Given the description of an element on the screen output the (x, y) to click on. 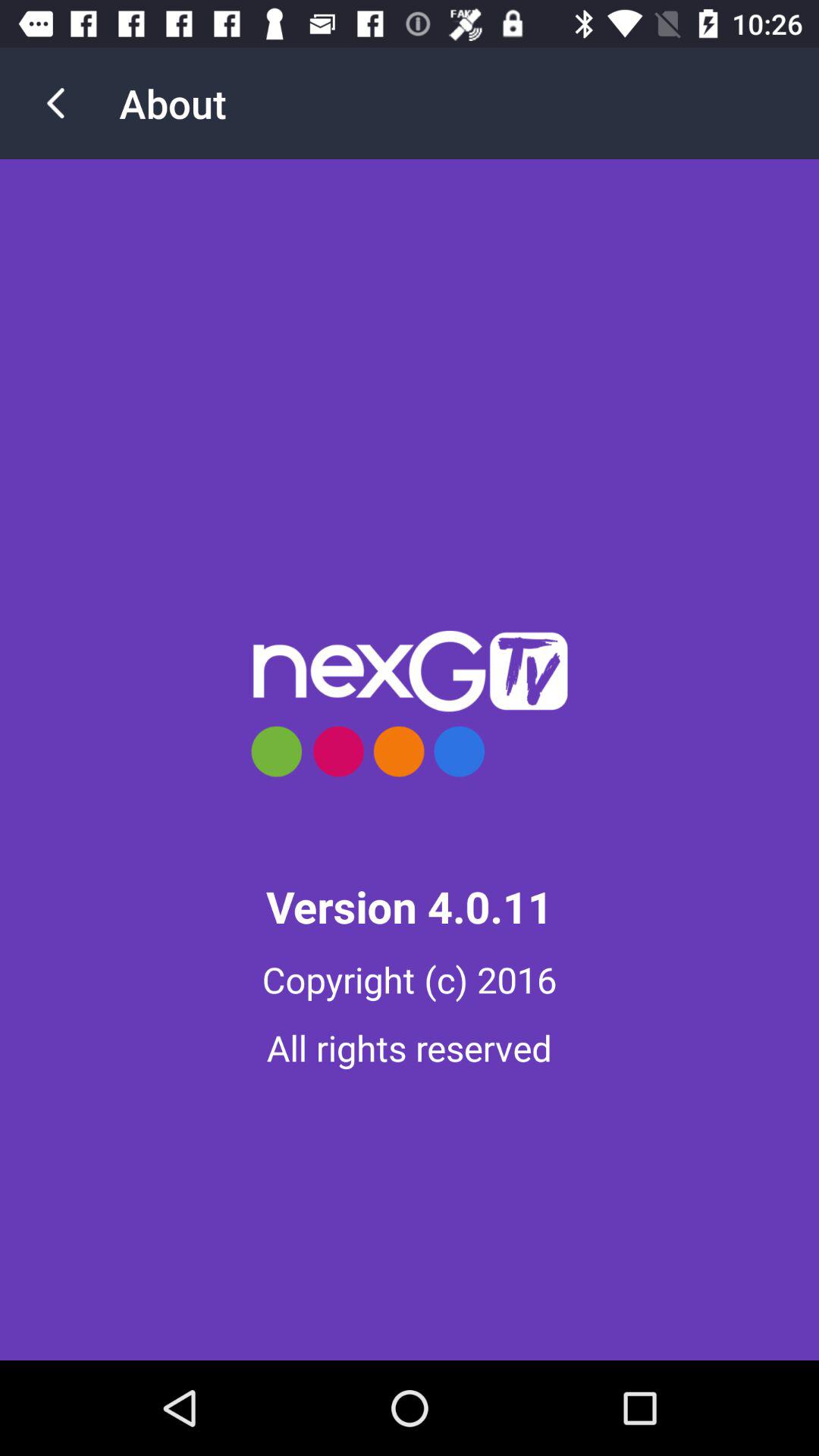
return to previous (55, 103)
